Given the description of an element on the screen output the (x, y) to click on. 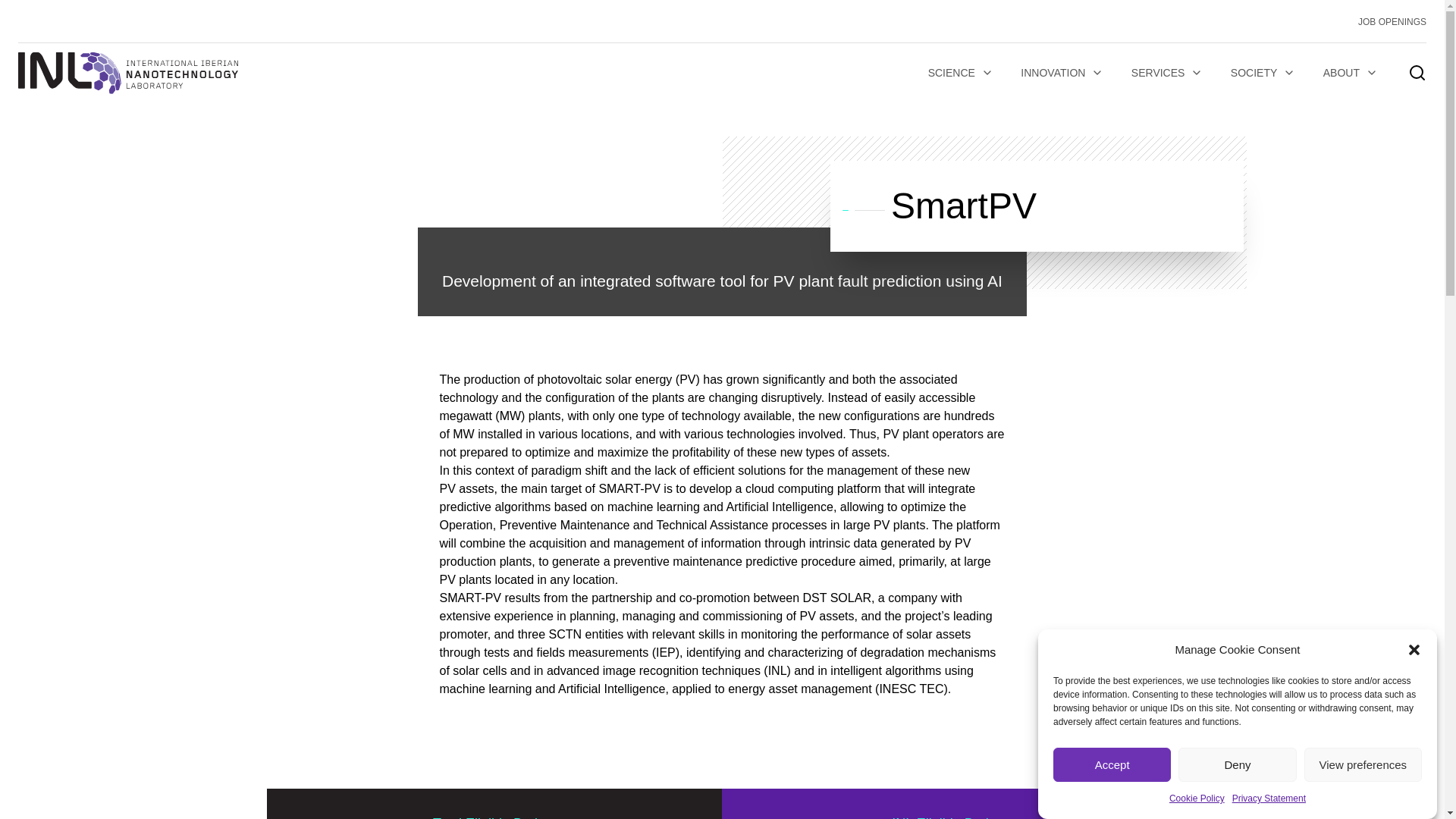
Subscribe (331, 589)
SOCIETY (1262, 72)
SCIENCE (960, 72)
INNOVATION (1062, 72)
SERVICES (1167, 72)
INL home (127, 73)
